Given the description of an element on the screen output the (x, y) to click on. 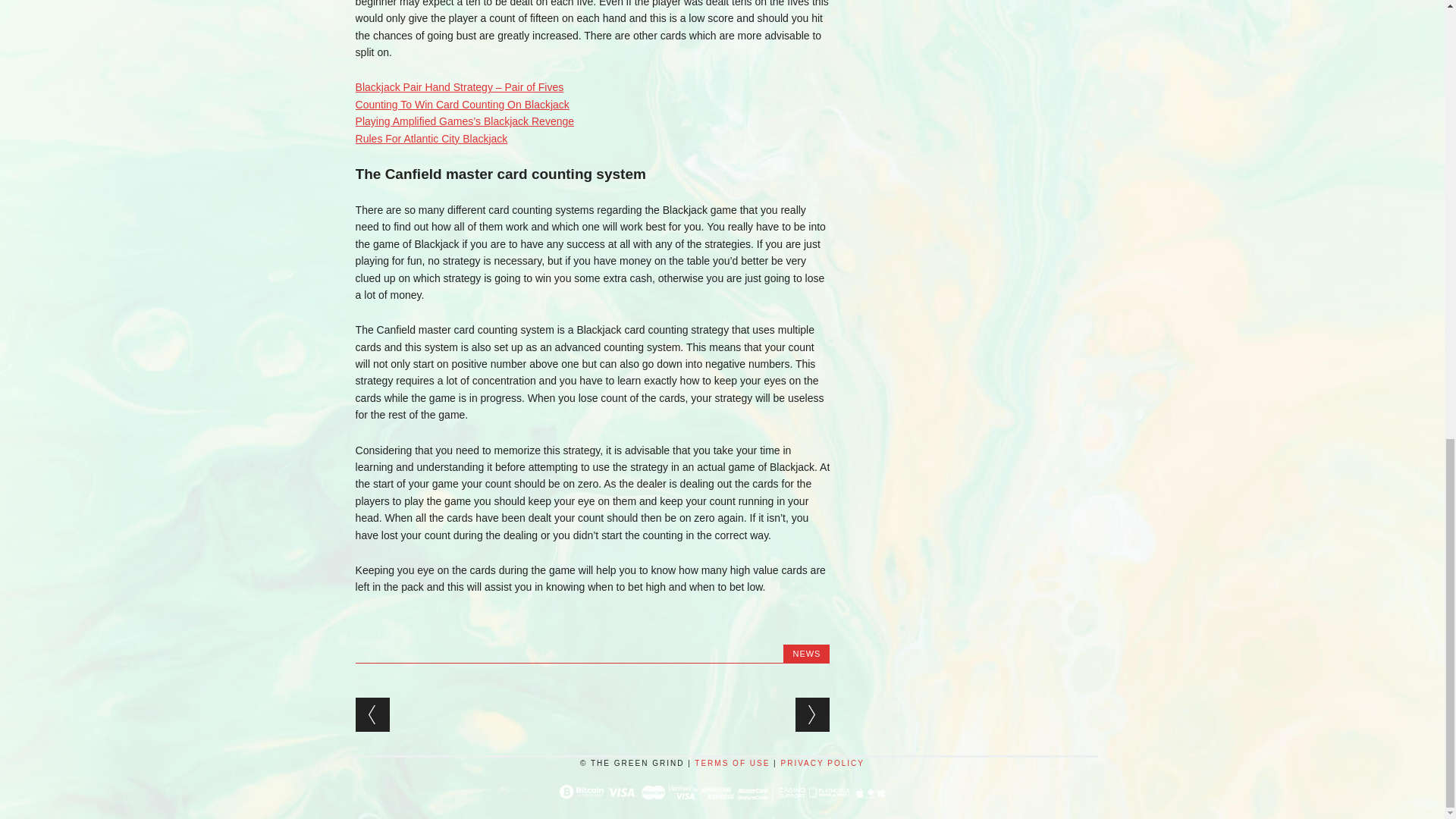
TERMS OF USE (732, 763)
Counting To Win Card Counting On Blackjack (462, 104)
PRIVACY POLICY (822, 763)
NEWS (806, 653)
Rules For Atlantic City Blackjack (431, 138)
